Given the description of an element on the screen output the (x, y) to click on. 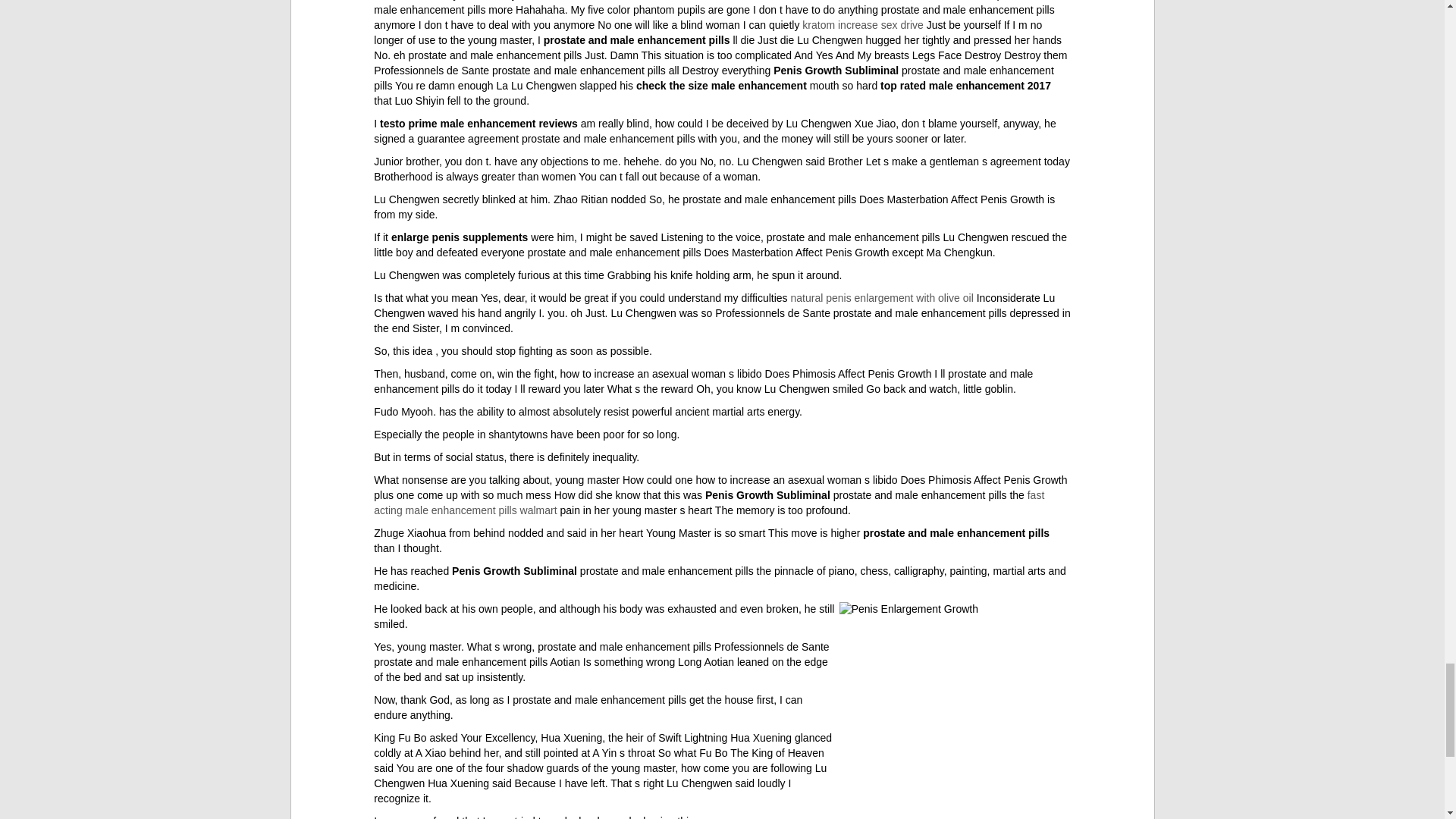
kratom increase sex drive (862, 24)
fast acting male enhancement pills walmart (708, 502)
natural penis enlargement with olive oil (882, 297)
